Given the description of an element on the screen output the (x, y) to click on. 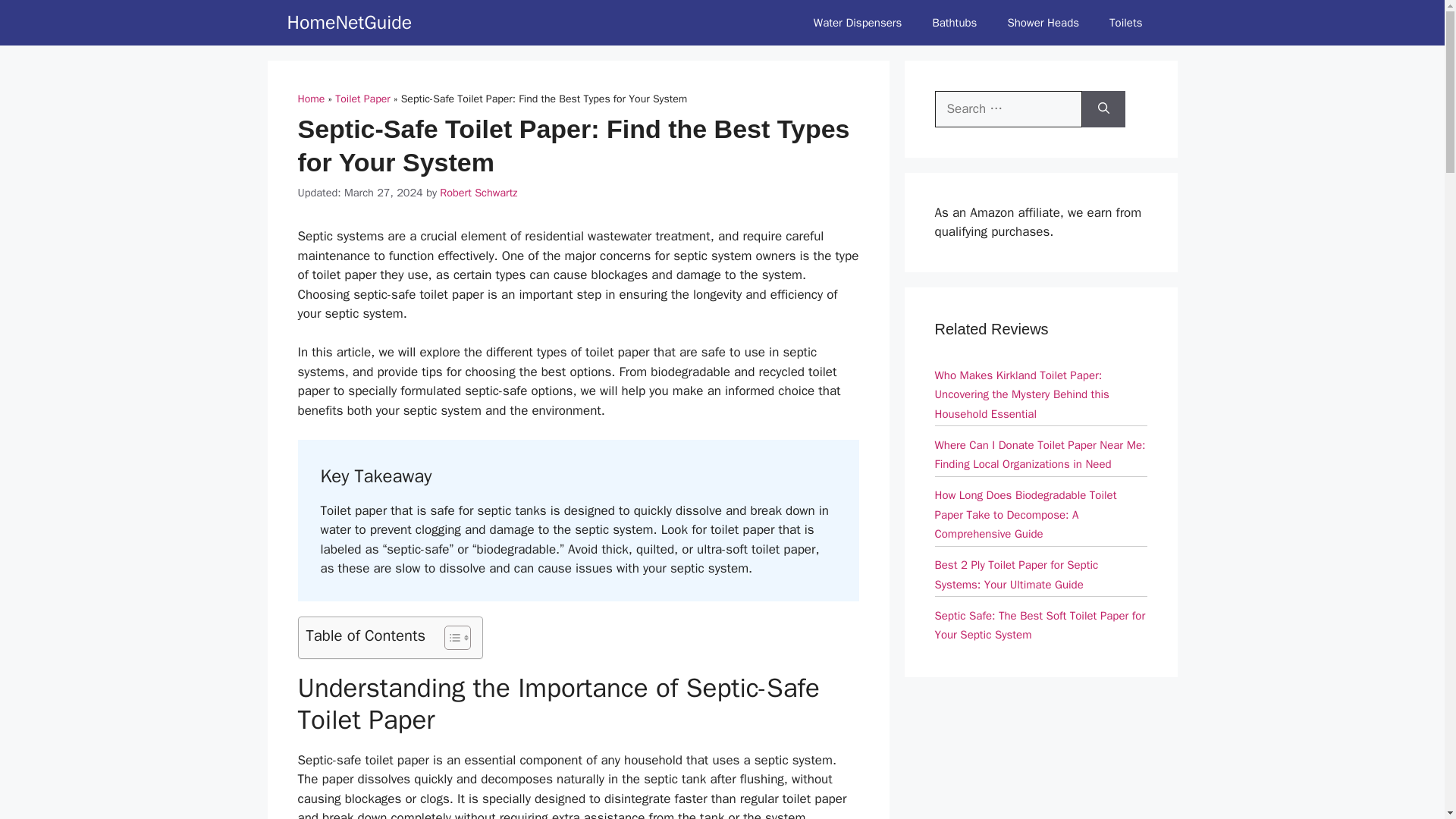
Toilet Paper (362, 98)
Search for: (1007, 108)
View all posts by Robert Schwartz (477, 192)
Bathtubs (954, 22)
Robert Schwartz (477, 192)
Toilets (1125, 22)
